Given the description of an element on the screen output the (x, y) to click on. 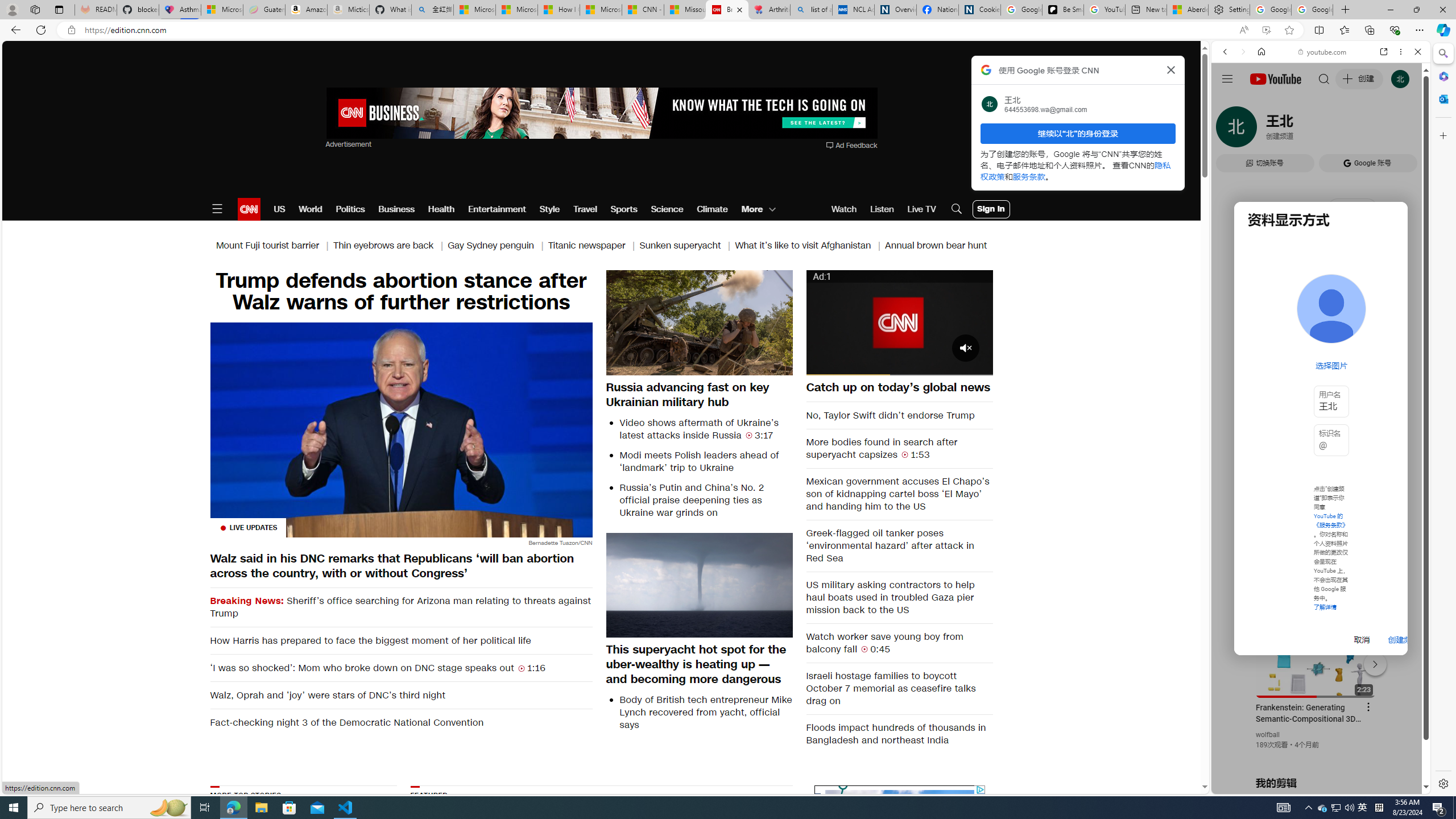
IMAGES (1262, 130)
World (309, 209)
you (1315, 755)
Google (1320, 281)
